Given the description of an element on the screen output the (x, y) to click on. 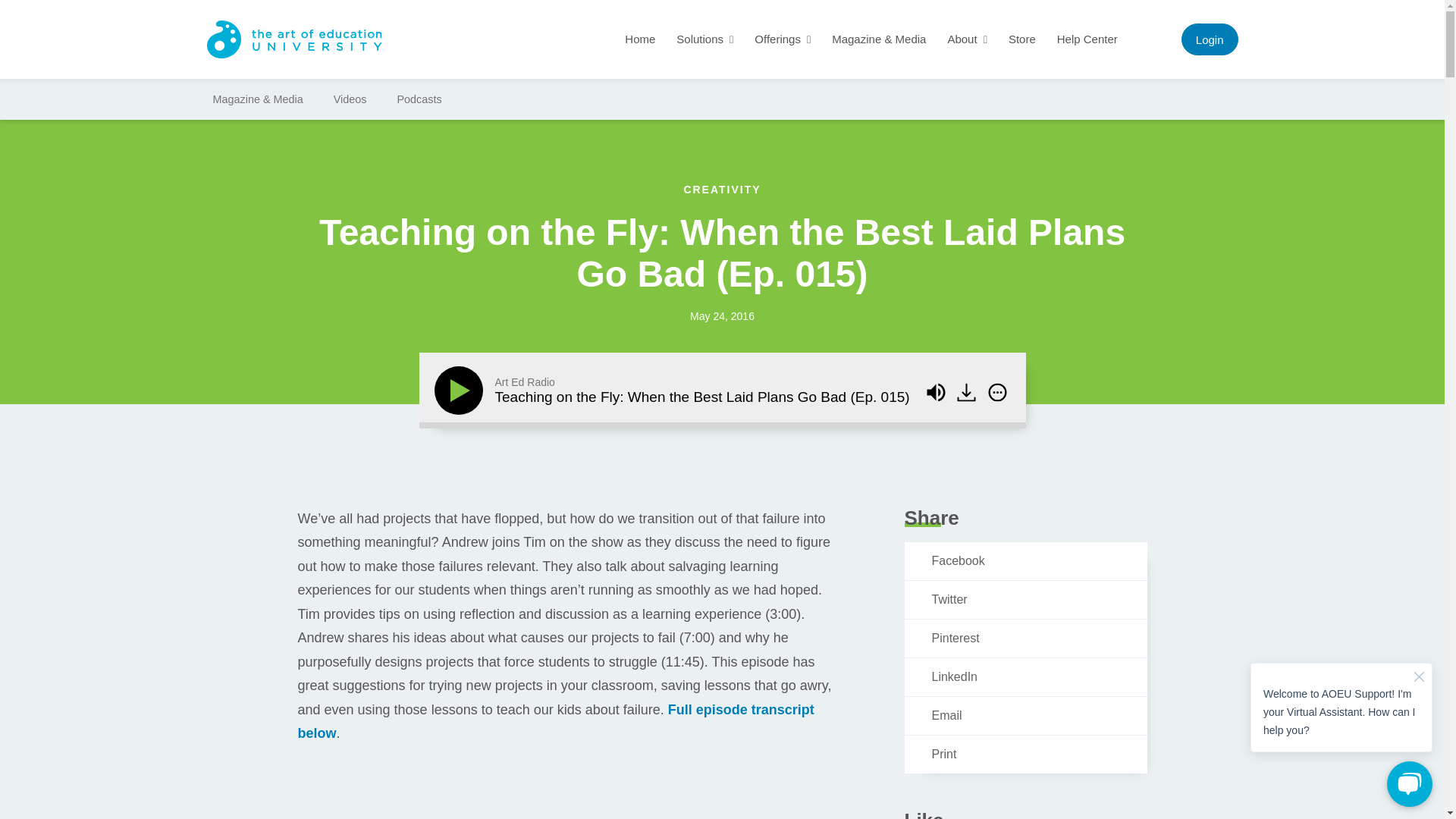
More (997, 392)
Download (966, 392)
